Given the description of an element on the screen output the (x, y) to click on. 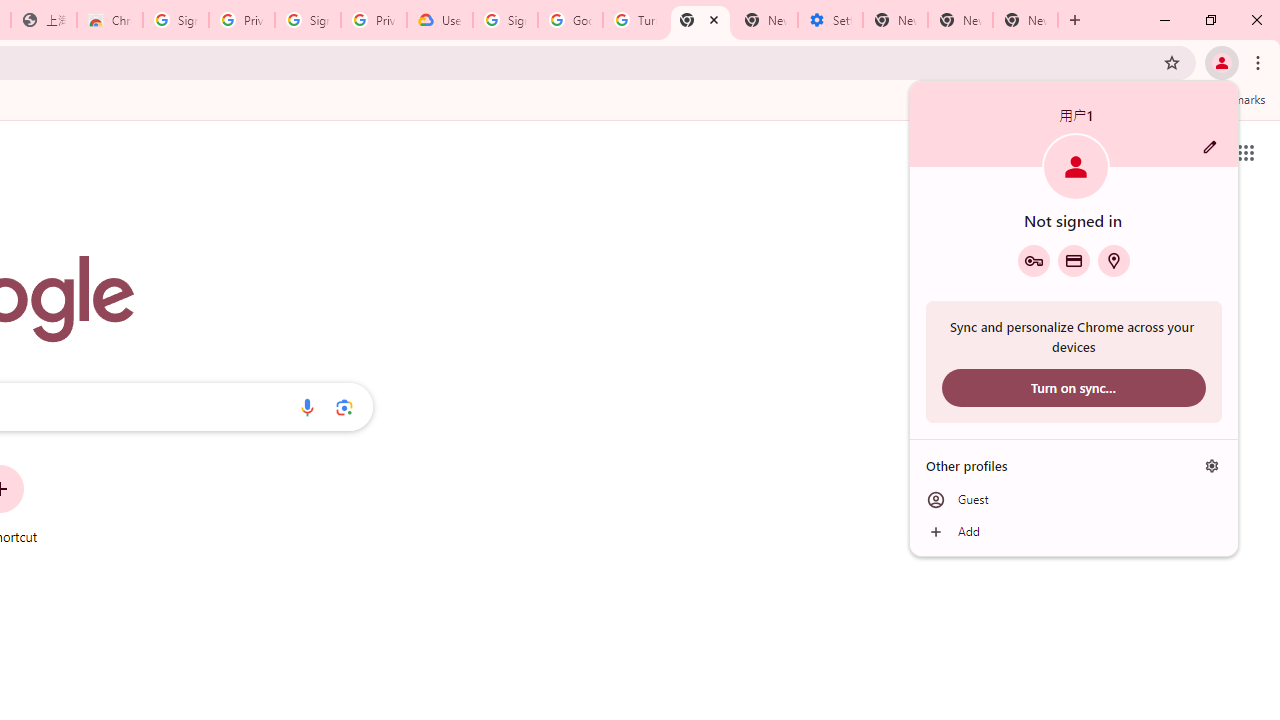
New Tab (700, 20)
Settings - System (829, 20)
Manage profiles (1211, 465)
Google Account Help (569, 20)
Sign in - Google Accounts (175, 20)
Sign in - Google Accounts (504, 20)
Chrome Web Store - Color themes by Chrome (109, 20)
Sign in - Google Accounts (307, 20)
New Tab (1025, 20)
Turn cookies on or off - Computer - Google Account Help (635, 20)
